Given the description of an element on the screen output the (x, y) to click on. 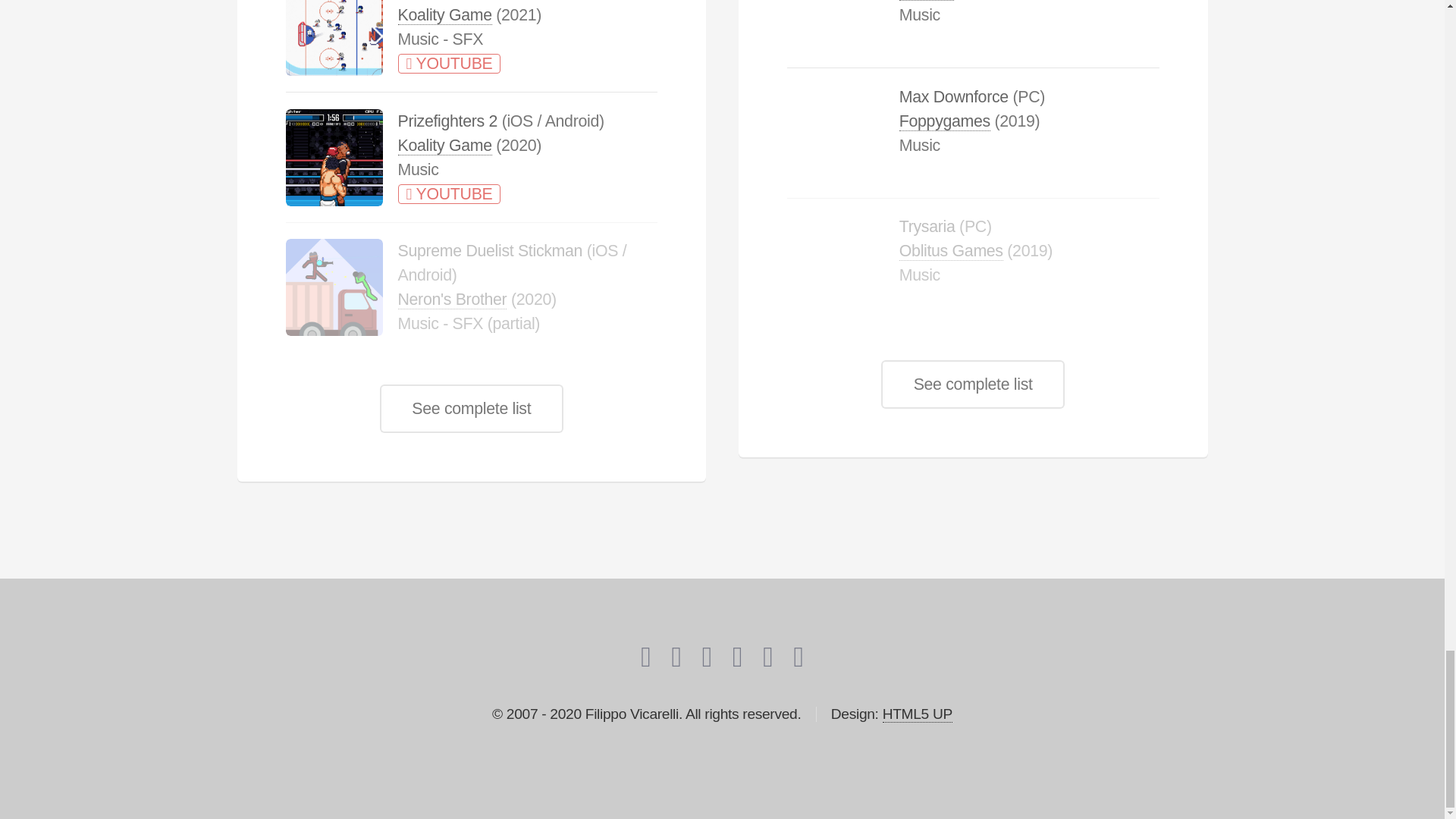
Neron's Brother (451, 299)
See complete list (471, 408)
Koality Game (444, 145)
YOUTUBE (448, 63)
SONKA (926, 0)
YOUTUBE (448, 193)
Koality Game (444, 15)
